Given the description of an element on the screen output the (x, y) to click on. 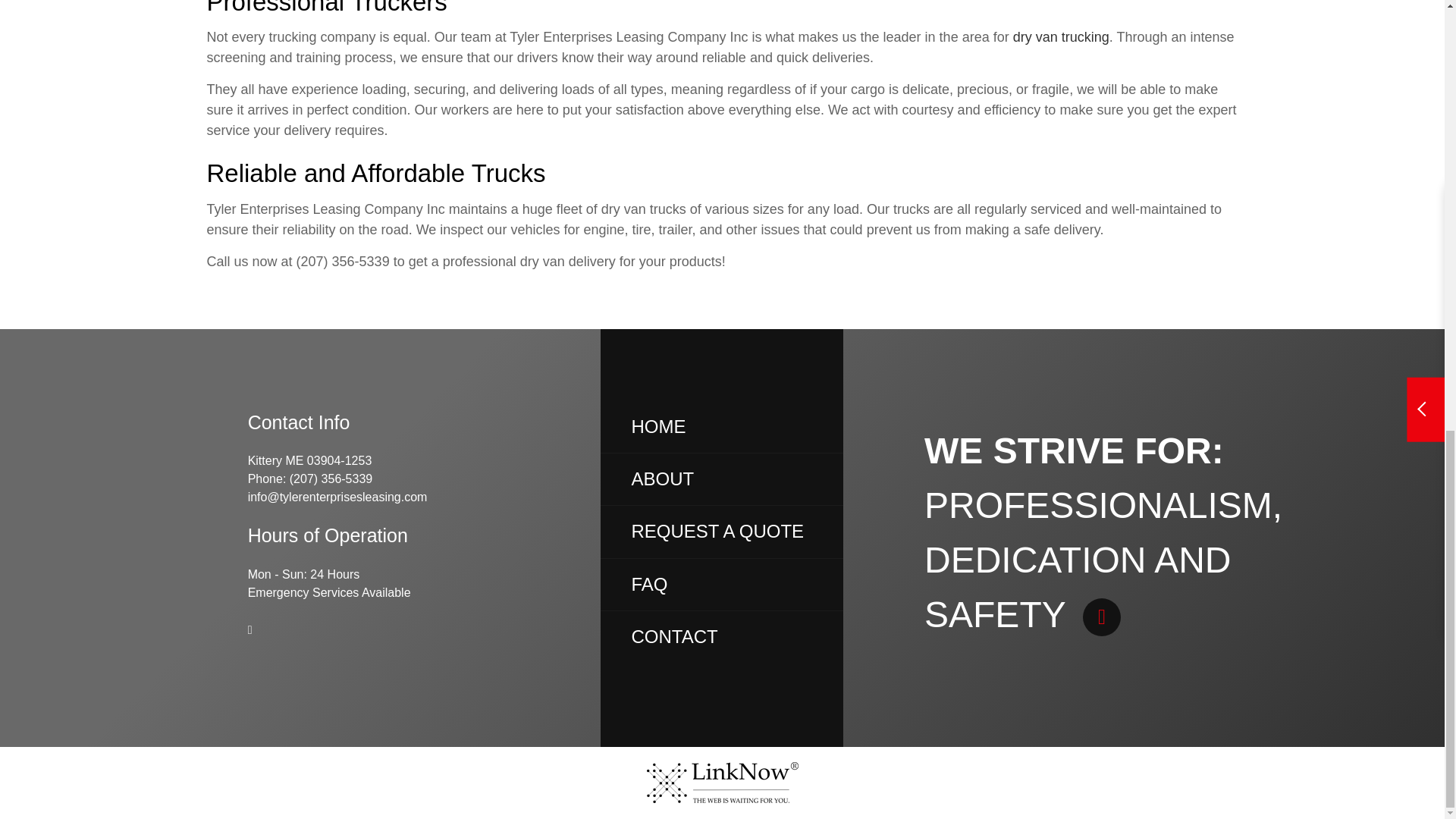
Get in touch with us (673, 636)
Learn more about us (1102, 614)
Request a detailed quote (716, 530)
Learn More About dry van trucking (1061, 37)
Learn more about us (662, 478)
Return to Home (657, 426)
Frequently asked questions (648, 584)
